Given the description of an element on the screen output the (x, y) to click on. 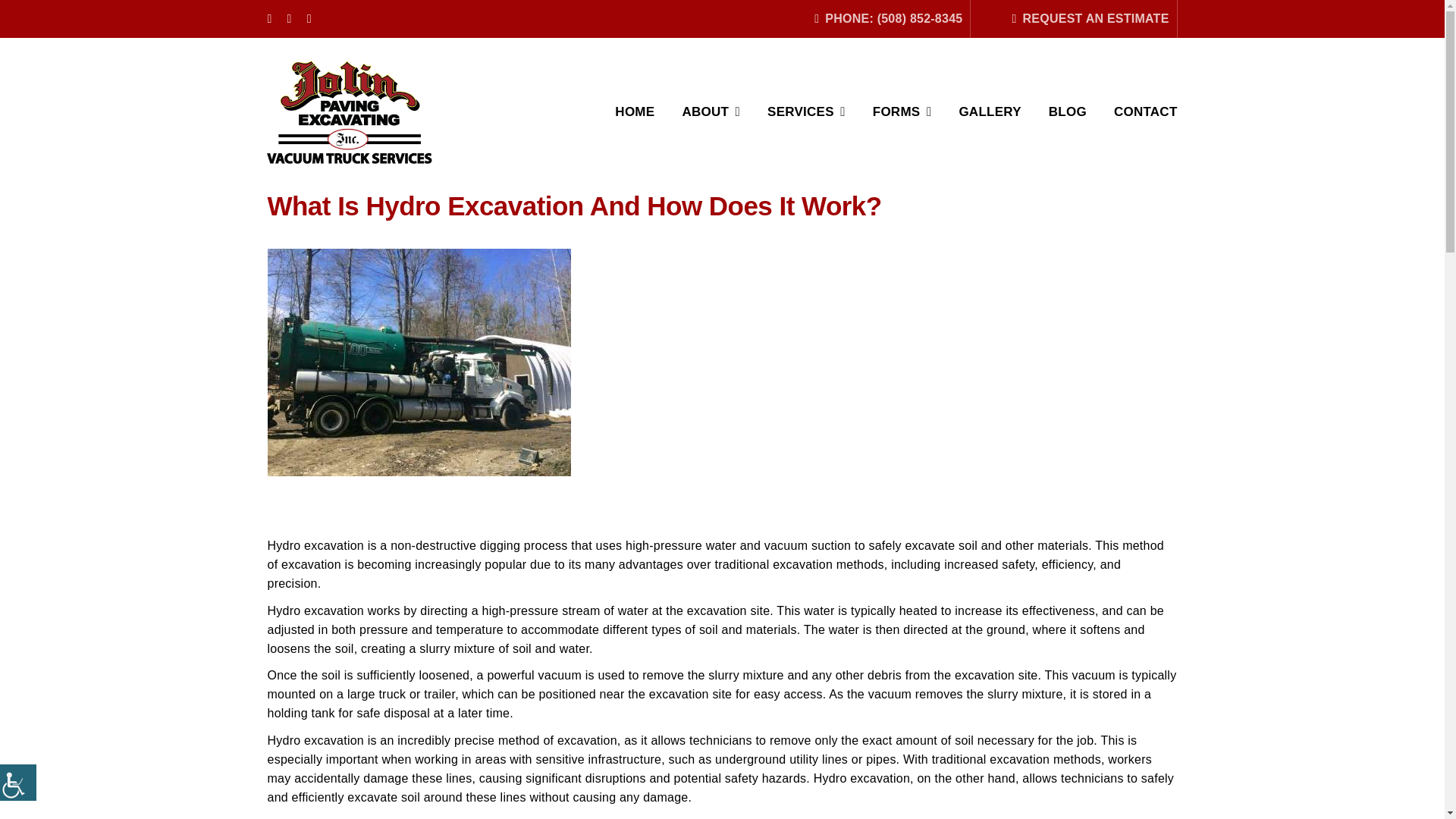
REQUEST AN ESTIMATE (1086, 18)
Accessibility Helper sidebar (18, 782)
